Given the description of an element on the screen output the (x, y) to click on. 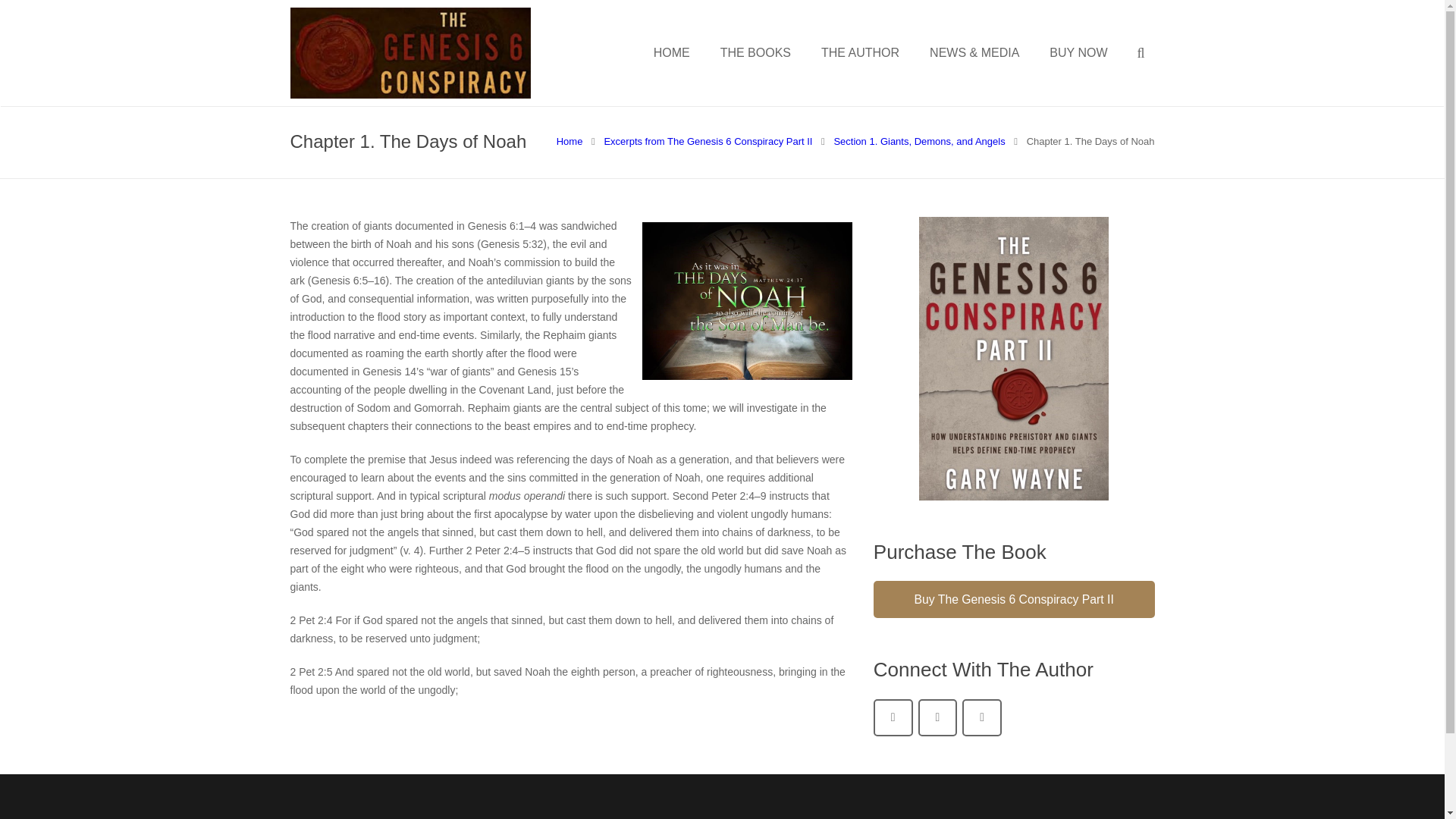
Search (50, 15)
HOME (671, 53)
Section 1. Giants, Demons, and Angels (918, 141)
Home (569, 141)
THE BOOKS (755, 53)
THE AUTHOR (860, 53)
Excerpts from The Genesis 6 Conspiracy Part II (708, 141)
BUY NOW (1077, 53)
Buy The Genesis 6 Conspiracy Part II (1013, 599)
